Given the description of an element on the screen output the (x, y) to click on. 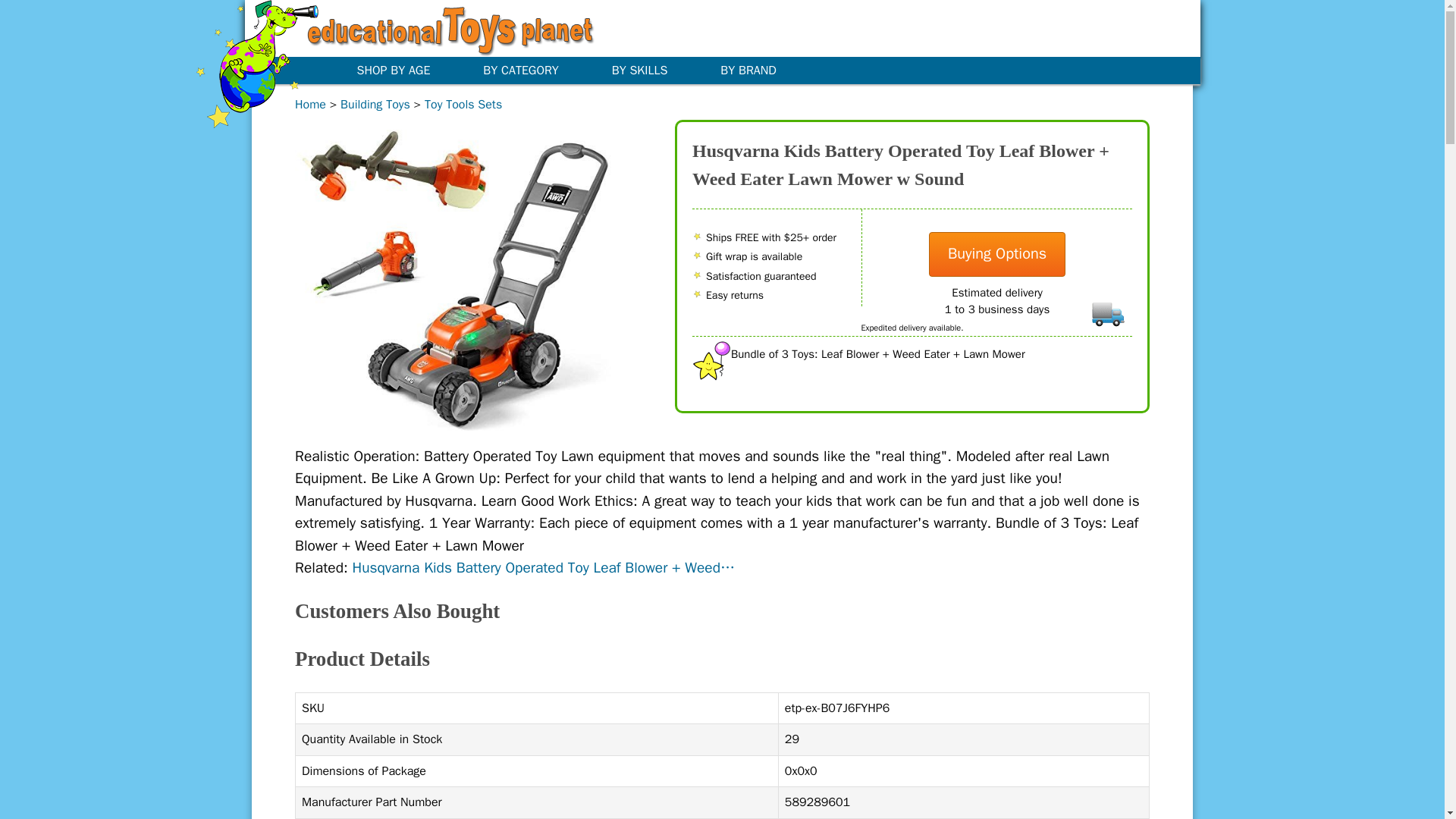
Home (310, 104)
BY CATEGORY (531, 70)
BY SKILLS (651, 70)
BY BRAND (758, 70)
Building Toys (375, 104)
Toy Tools Sets (463, 104)
Buying Options (996, 253)
SHOP BY AGE (403, 70)
